Given the description of an element on the screen output the (x, y) to click on. 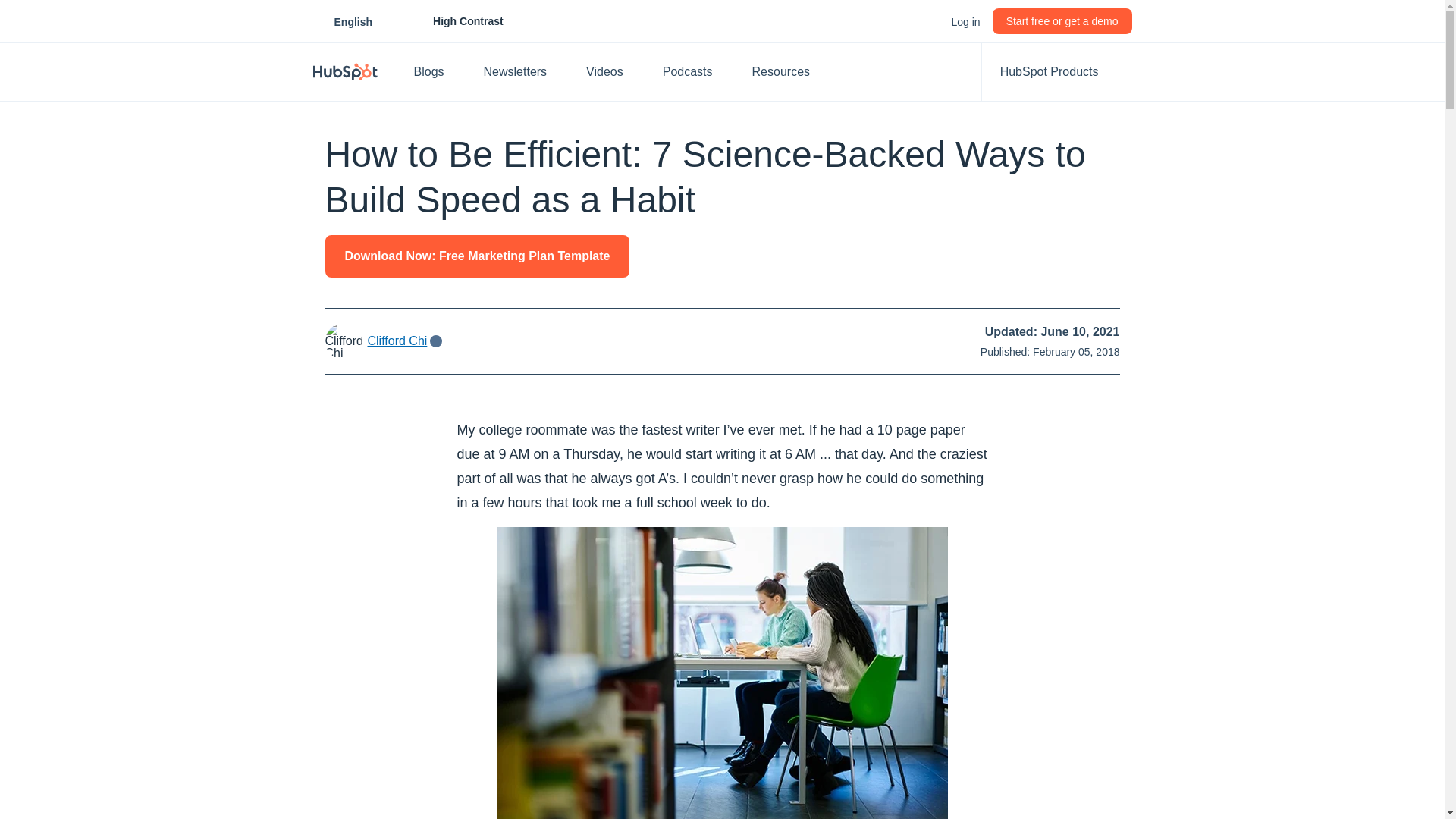
Start free or get a demo (1062, 21)
Videos (611, 71)
Blogs (353, 21)
High Contrast (436, 71)
Log in (450, 21)
Newsletters (964, 21)
